Given the description of an element on the screen output the (x, y) to click on. 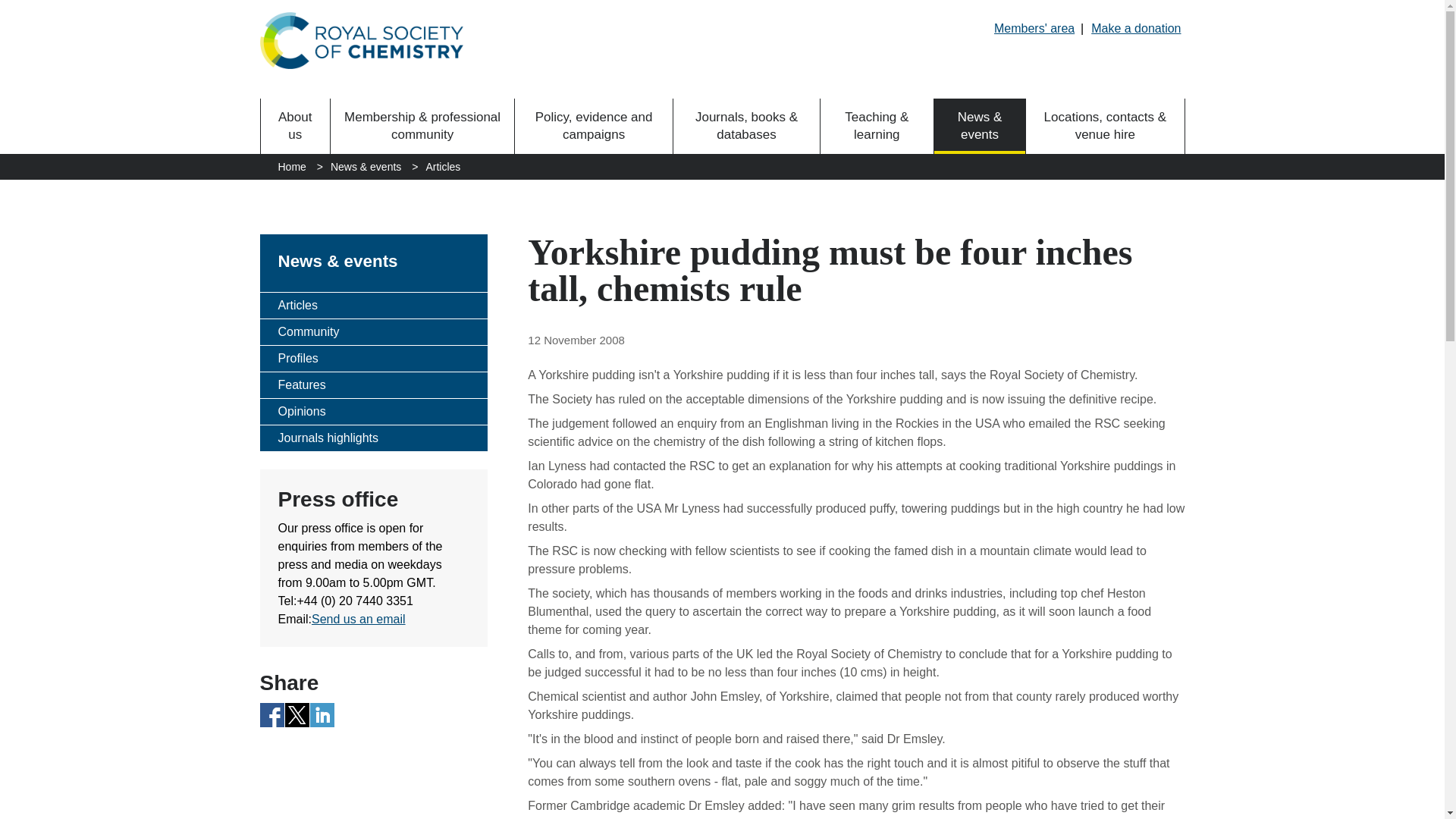
Make a donation (1135, 28)
Articles (442, 166)
Features (372, 385)
FB (271, 714)
About us (295, 125)
Opinions (372, 411)
Home (291, 166)
LinkedIn (322, 714)
Twitter (296, 714)
Journals highlights (372, 438)
Members' area (1034, 28)
Send us an email (358, 618)
Profiles (372, 358)
Royal Society of Chemistry (361, 40)
Articles (372, 305)
